Given the description of an element on the screen output the (x, y) to click on. 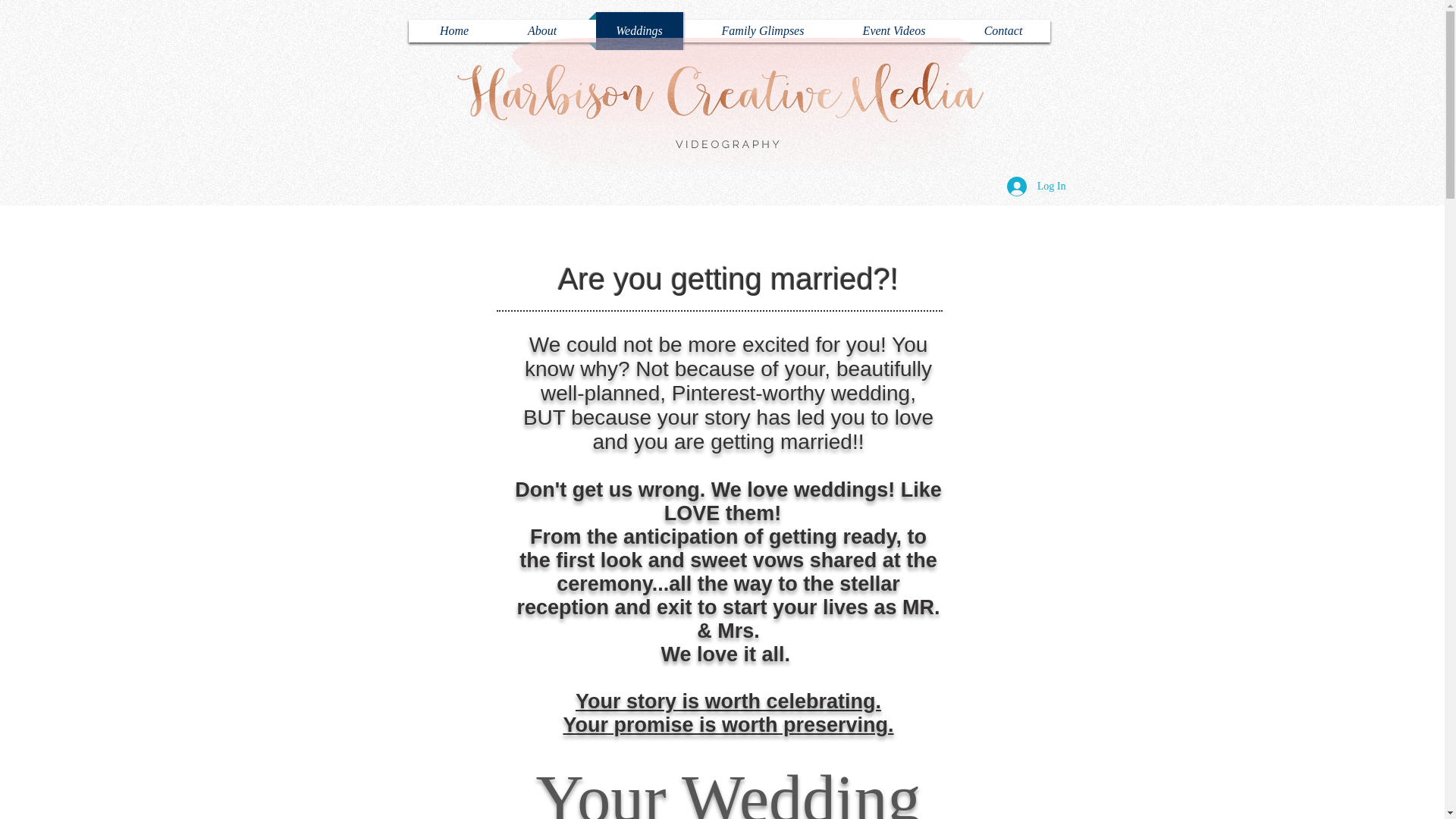
About (542, 30)
Weddings (639, 30)
Contact (1002, 30)
Family Glimpses (762, 30)
Log In (1036, 185)
Event Videos (894, 30)
Home (454, 30)
